Given the description of an element on the screen output the (x, y) to click on. 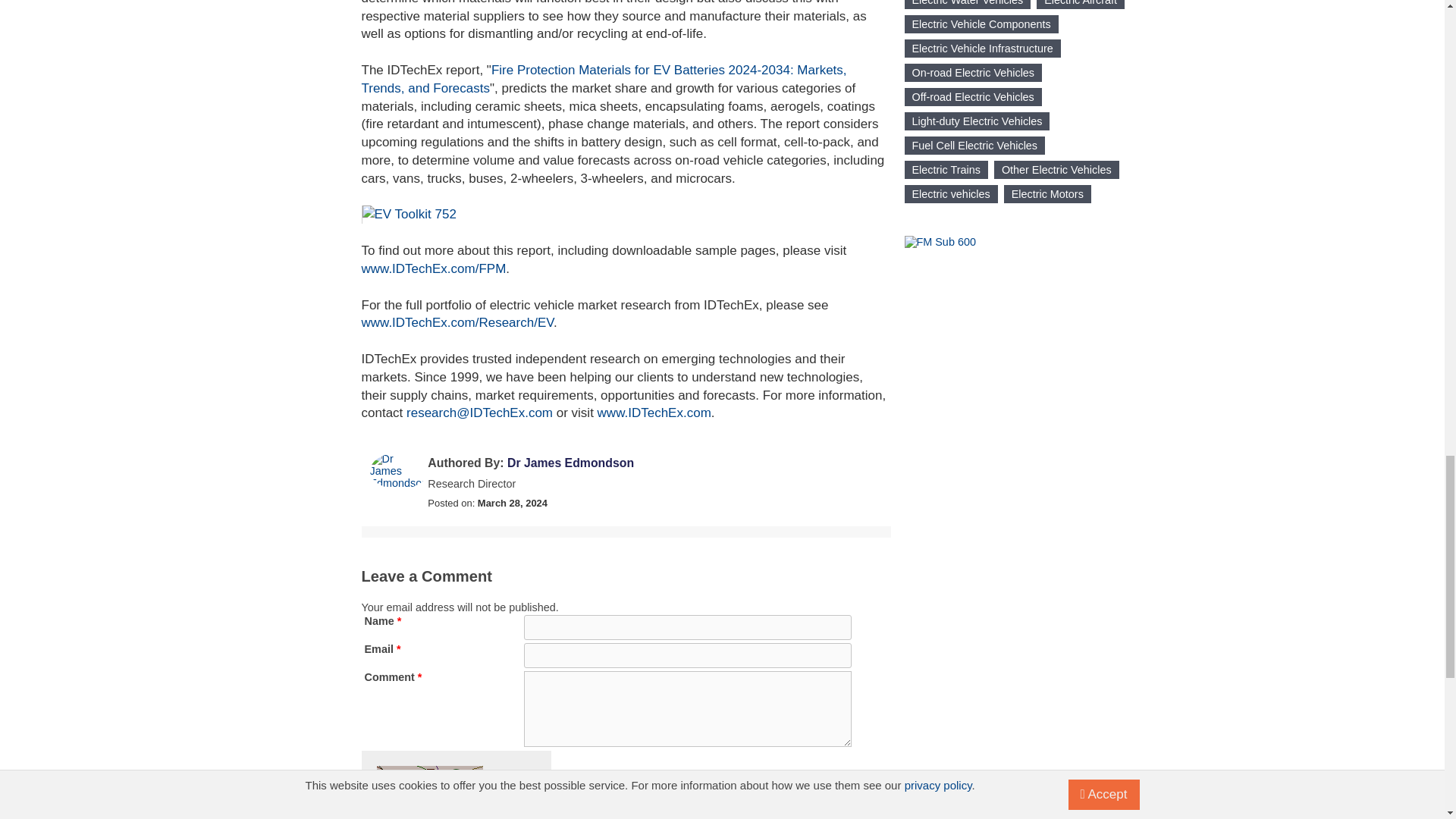
Dr James Edmondson (398, 470)
